Given the description of an element on the screen output the (x, y) to click on. 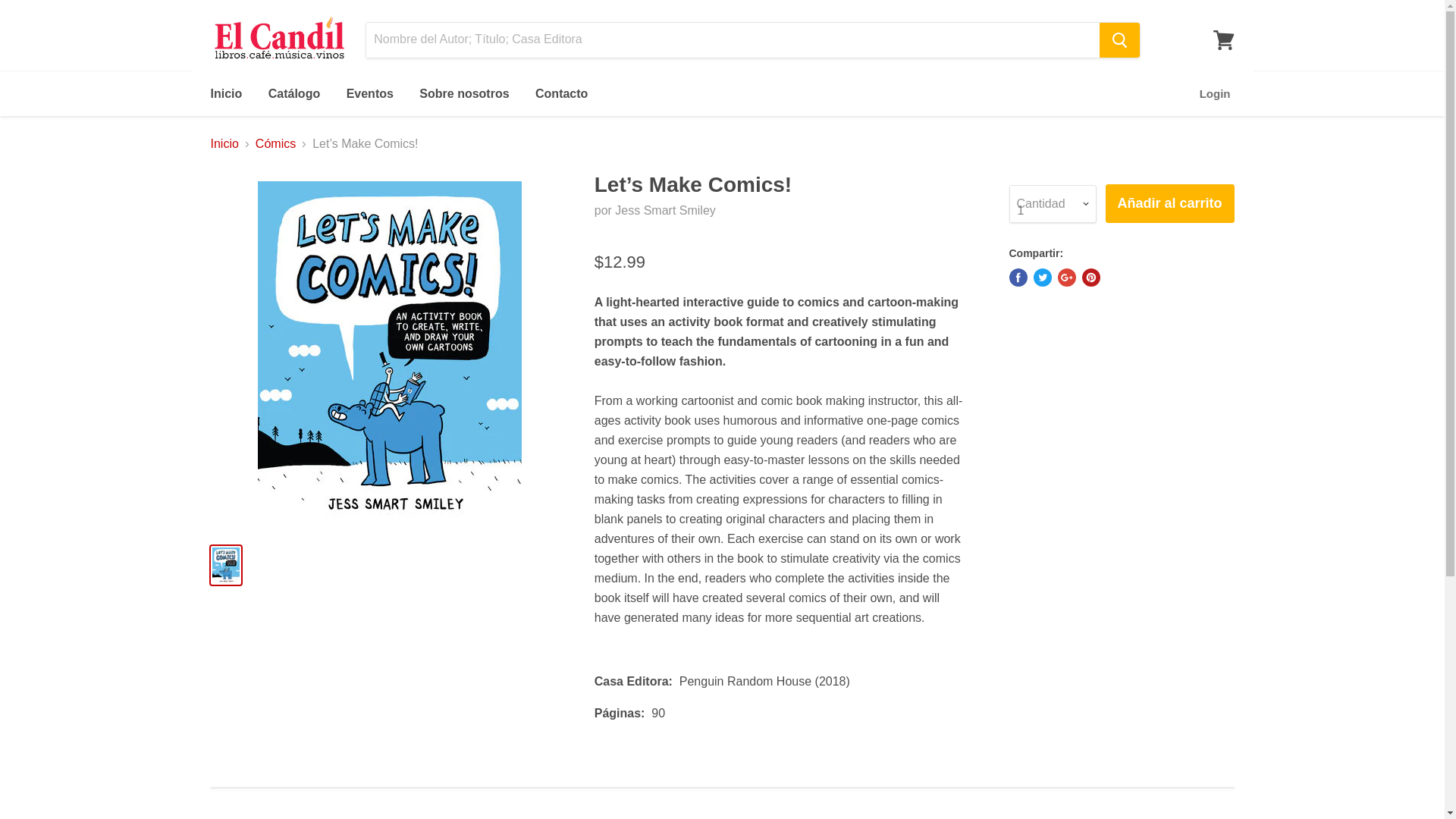
Eventos (369, 93)
Login (1215, 93)
Compartir en Facebook (1017, 277)
Ver carrito (1223, 39)
Contacto (561, 93)
Sobre nosotros (463, 93)
Inicio (225, 93)
Inicio (224, 143)
Tuitear en Twitter (1041, 277)
Hacer Pin en Pinterest (1090, 277)
